Given the description of an element on the screen output the (x, y) to click on. 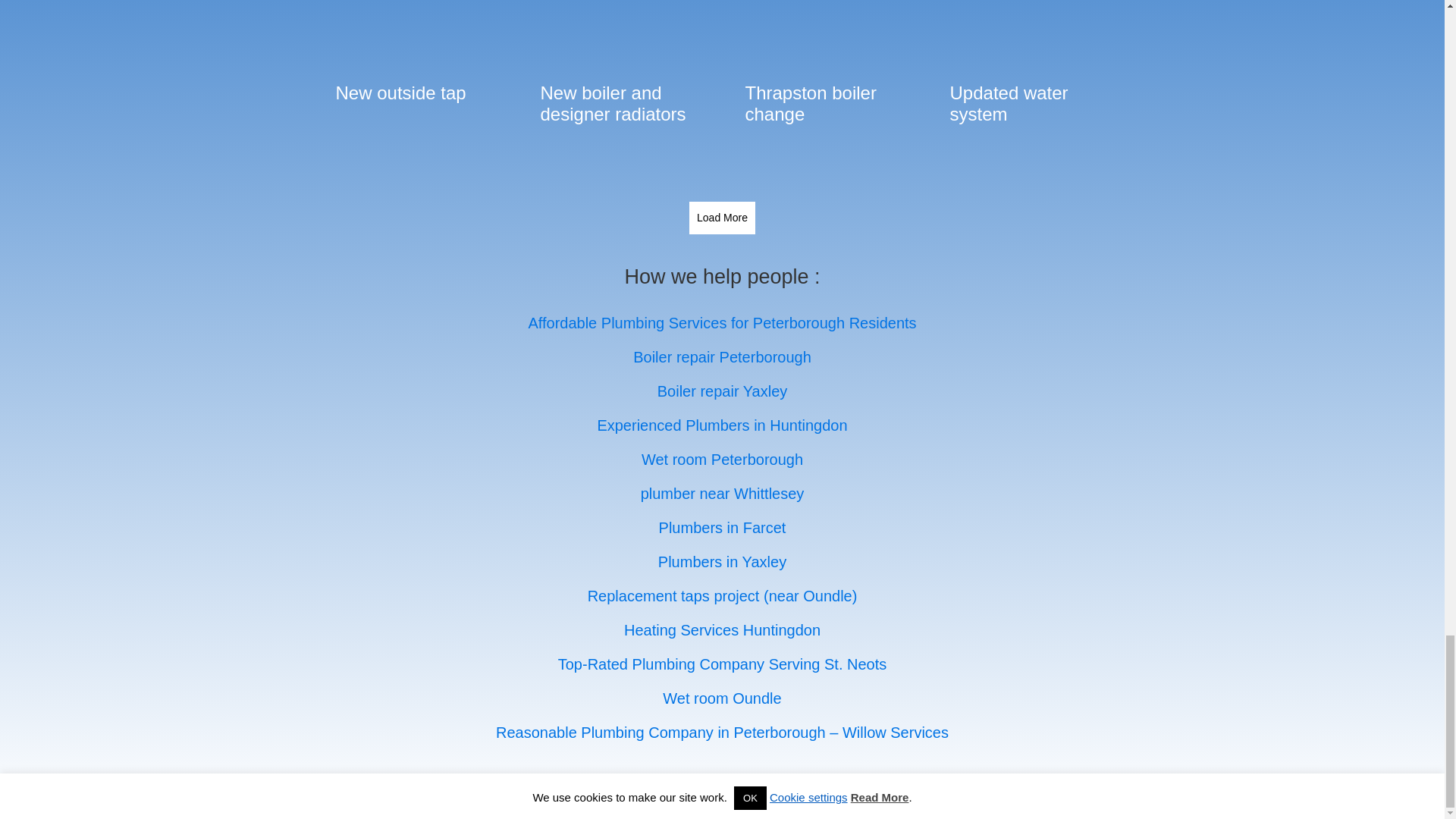
Boiler service (619, 1)
Cylinder change (414, 1)
Unvented cylinder change (823, 1)
